Given the description of an element on the screen output the (x, y) to click on. 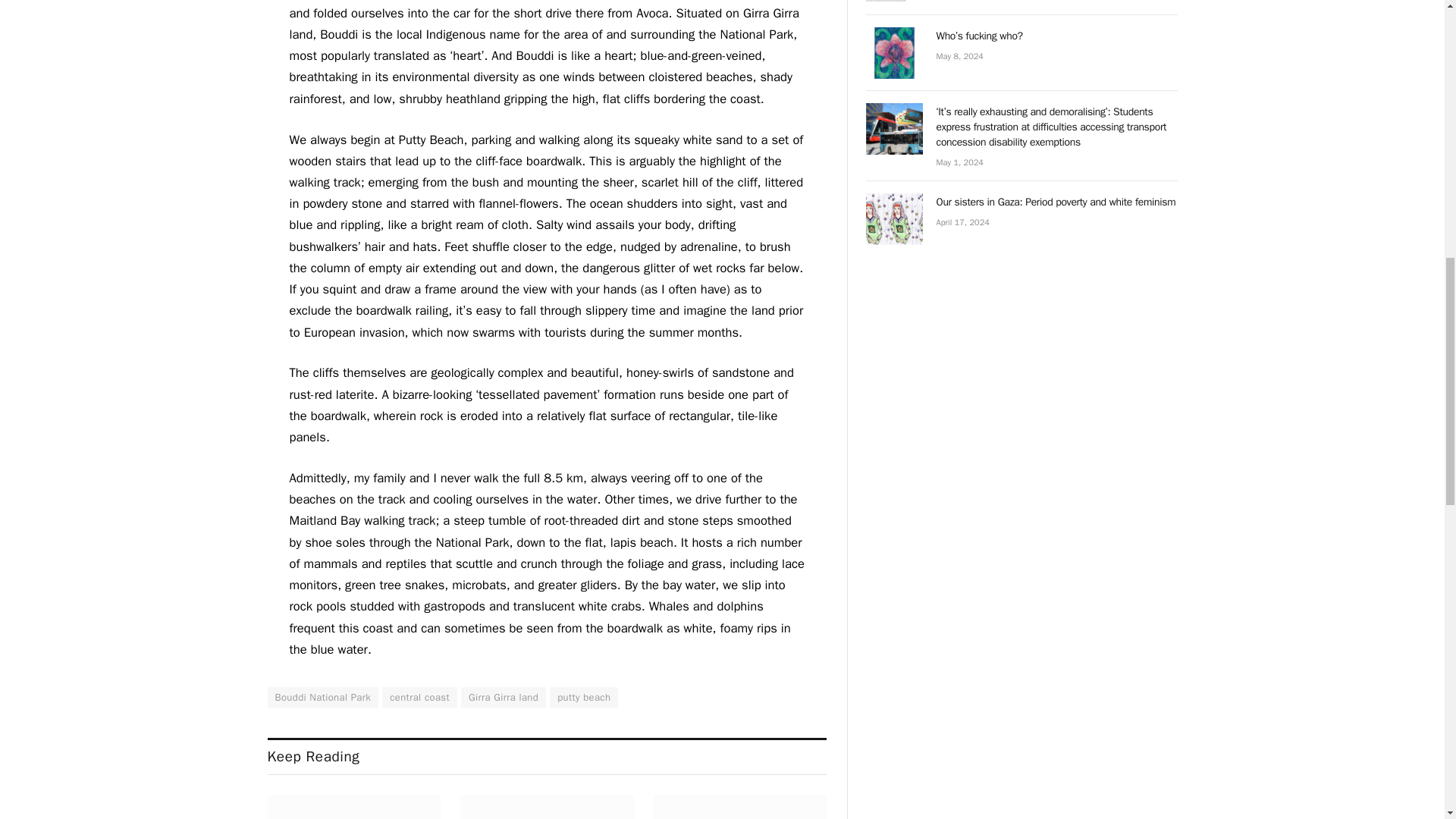
The Mysterious Case of the Missing Eels (353, 806)
